Given the description of an element on the screen output the (x, y) to click on. 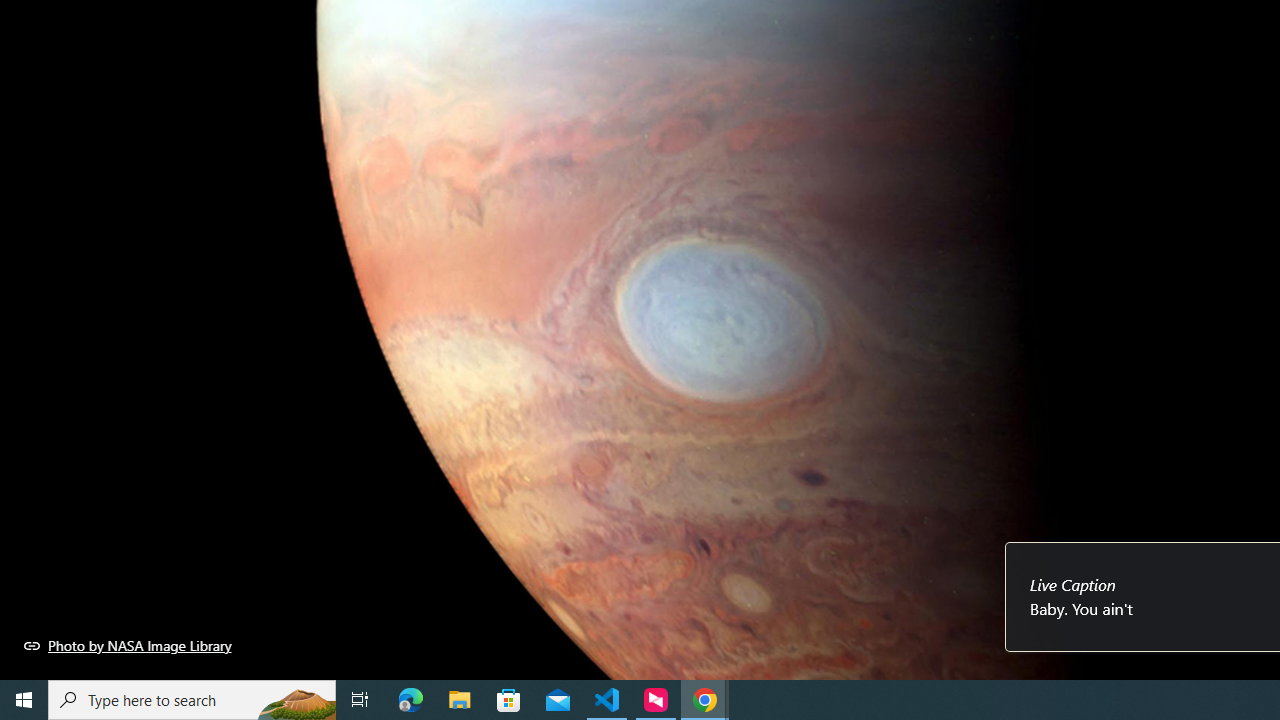
Photo by NASA Image Library (127, 645)
